Given the description of an element on the screen output the (x, y) to click on. 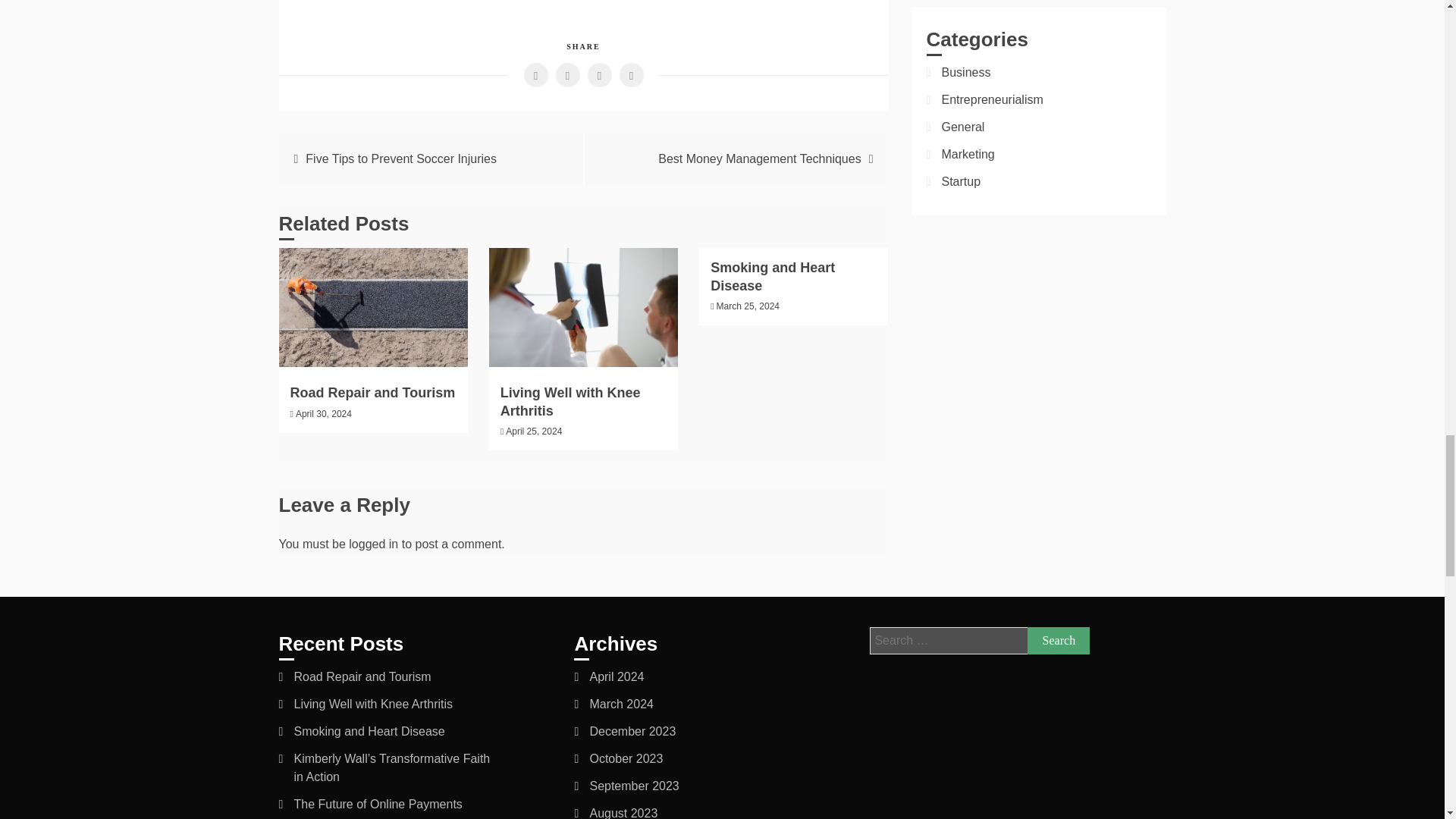
Road Repair and Tourism (371, 392)
Search (1058, 640)
April 30, 2024 (323, 413)
Search (1058, 640)
Living Well with Knee Arthritis (570, 400)
Five Tips to Prevent Soccer Injuries (400, 158)
Best Money Management Techniques (759, 158)
